Given the description of an element on the screen output the (x, y) to click on. 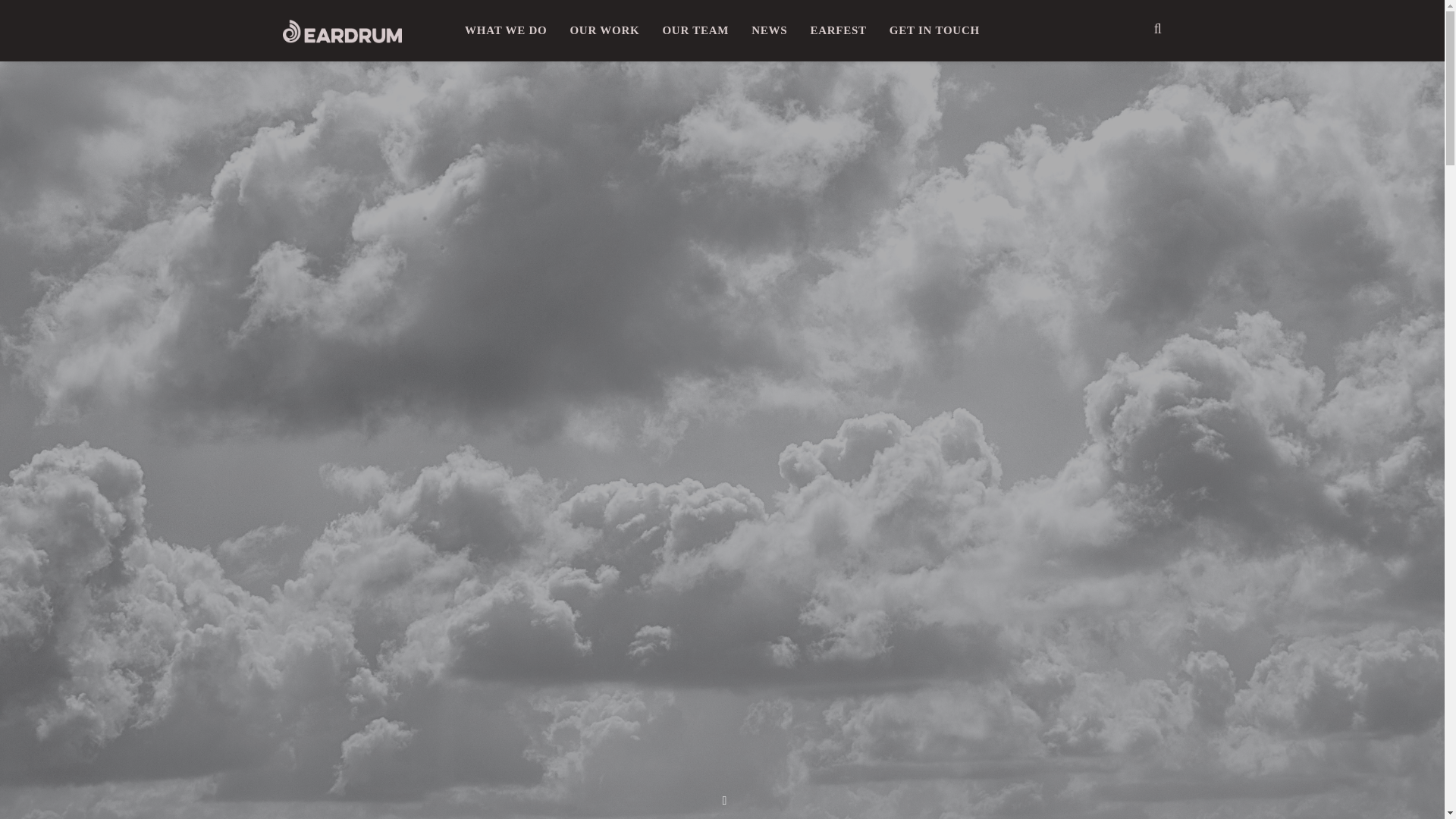
GET IN TOUCH (934, 30)
OUR TEAM (695, 30)
WHAT WE DO (505, 30)
EARFEST (837, 30)
OUR WORK (604, 30)
